Given the description of an element on the screen output the (x, y) to click on. 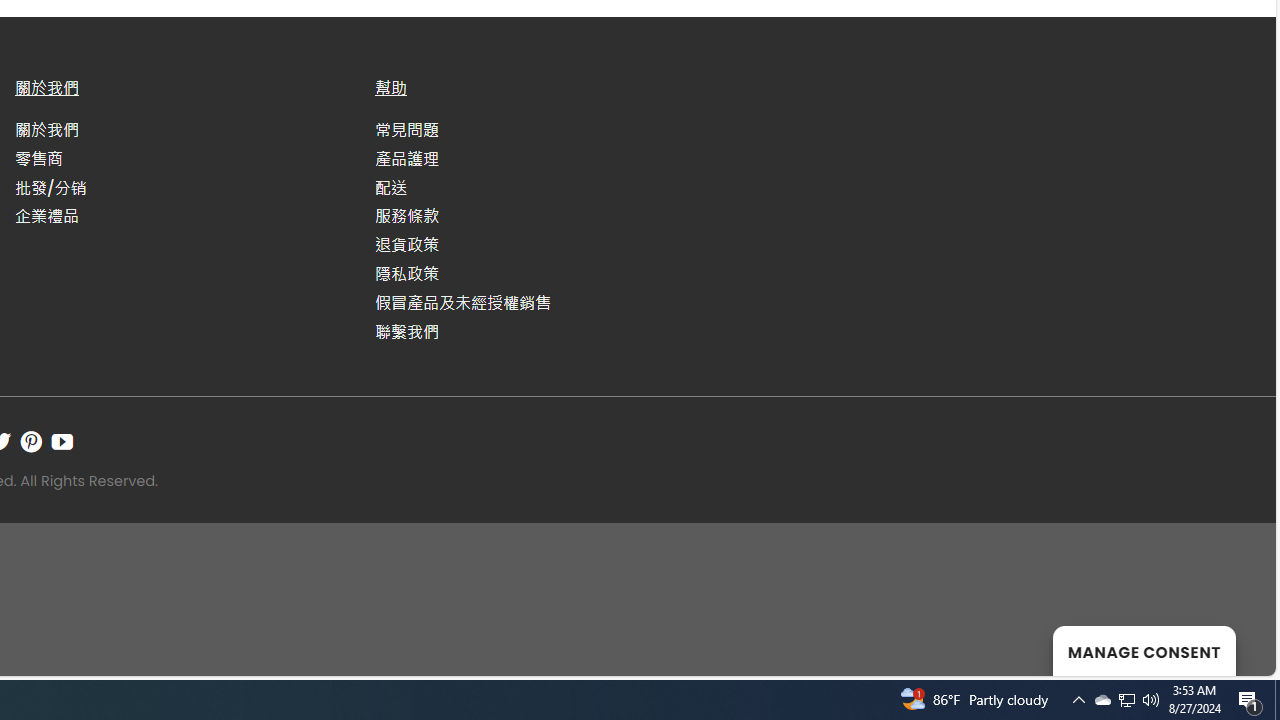
Go to top (1234, 647)
Follow on Pinterest (31, 441)
MANAGE CONSENT (1144, 650)
